Given the description of an element on the screen output the (x, y) to click on. 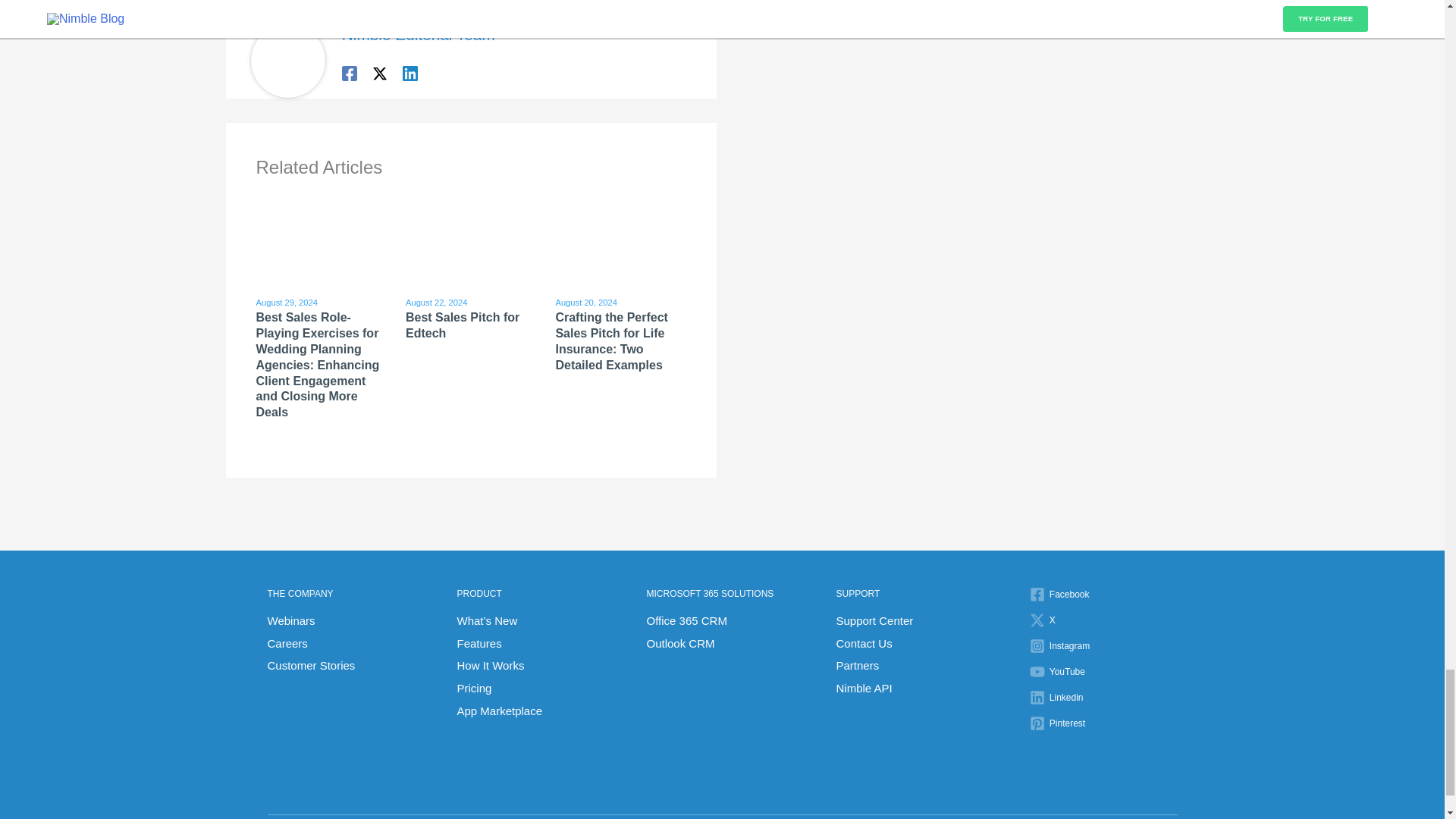
Nimble Editorial Team (418, 33)
Best Sales Pitch for Edtech (462, 325)
